Given the description of an element on the screen output the (x, y) to click on. 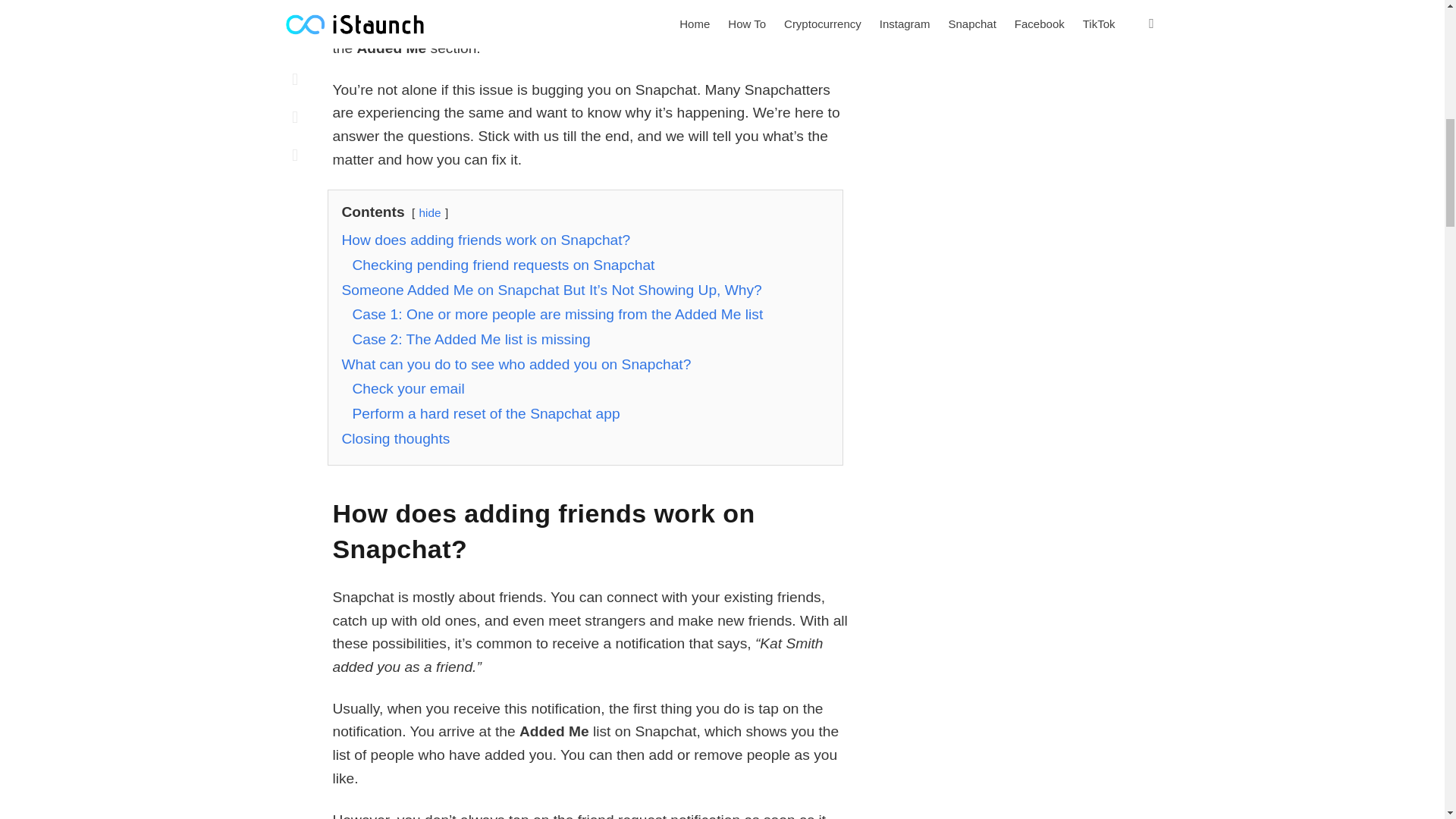
Check your email (408, 388)
hide (430, 212)
Perform a hard reset of the Snapchat app (486, 413)
Closing thoughts (394, 438)
How does adding friends work on Snapchat? (485, 239)
Case 2: The Added Me list is missing (470, 339)
Checking pending friend requests on Snapchat (502, 264)
What can you do to see who added you on Snapchat? (515, 364)
